Given the description of an element on the screen output the (x, y) to click on. 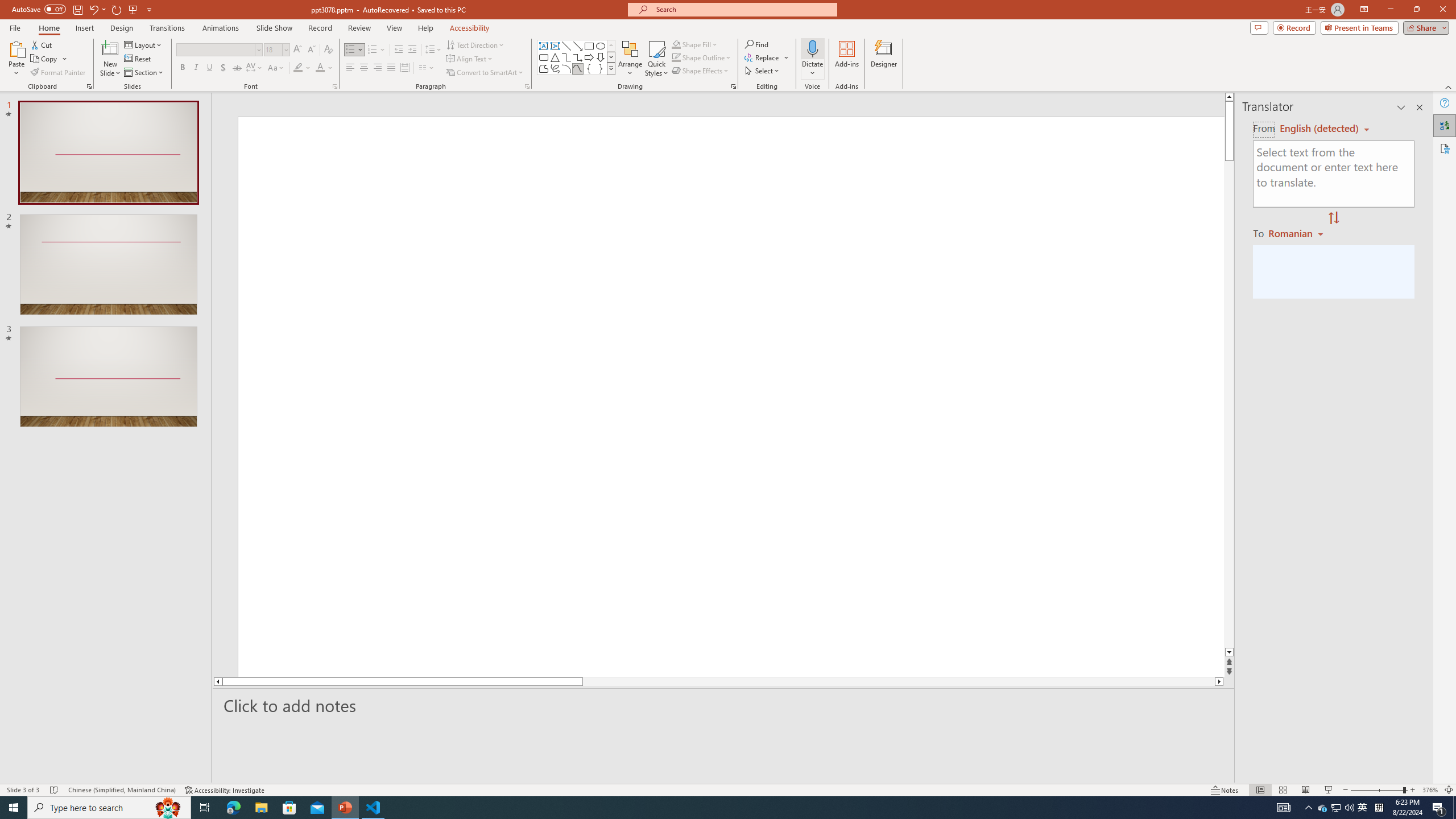
Romanian (1296, 232)
